Given the description of an element on the screen output the (x, y) to click on. 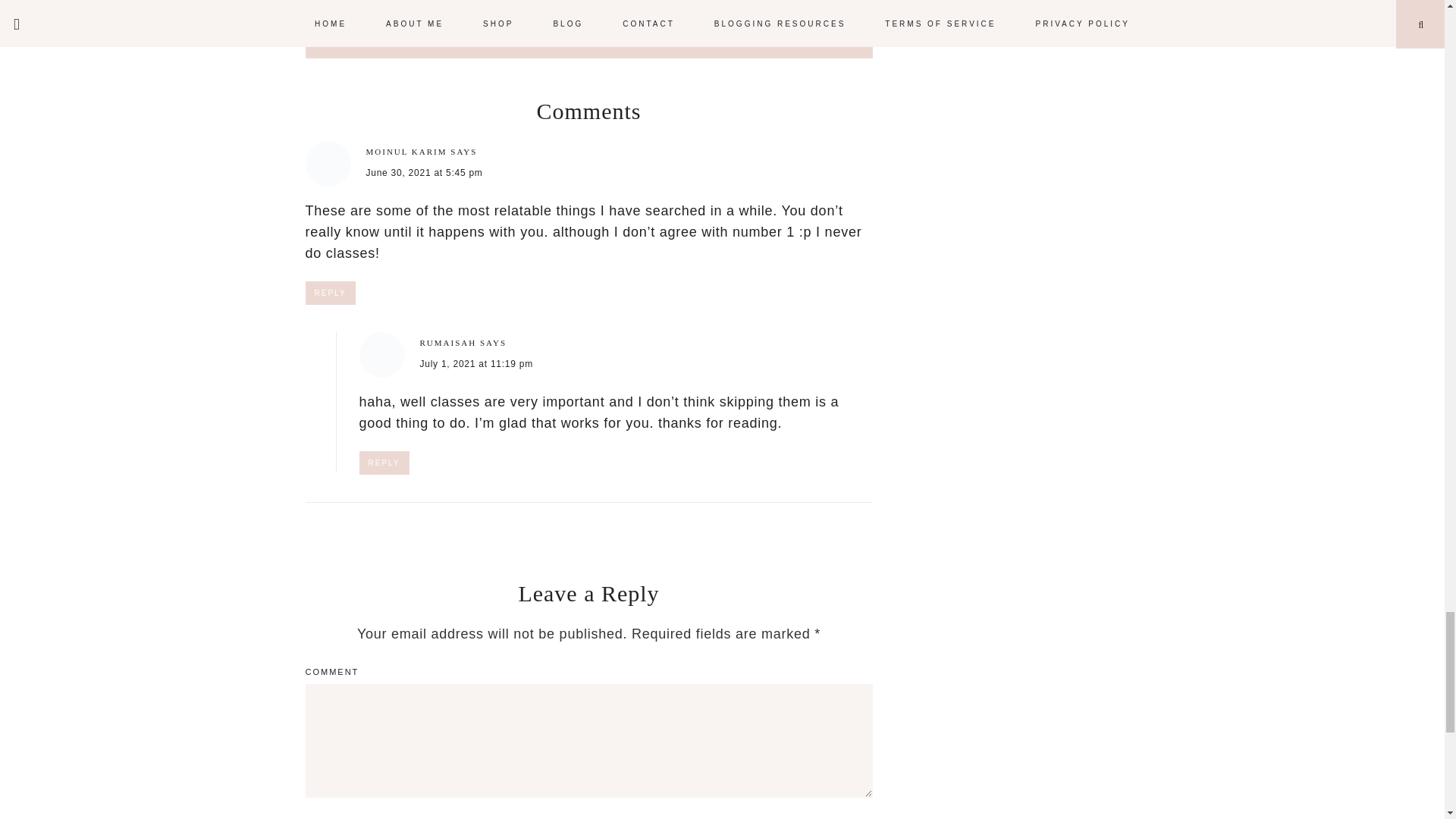
Share on X (517, 2)
Save to Pinterest (659, 6)
Share on Facebook (375, 2)
